Given the description of an element on the screen output the (x, y) to click on. 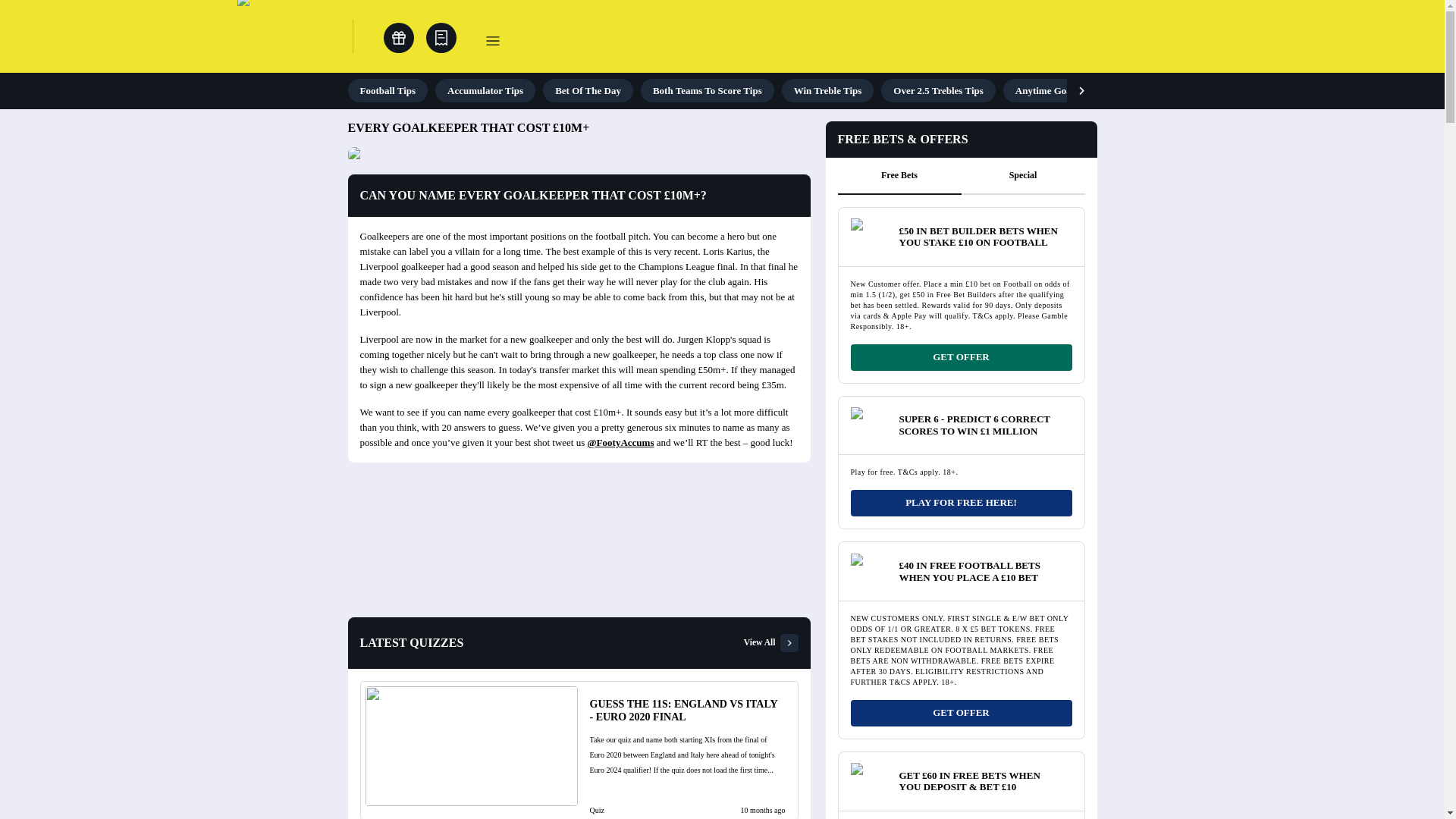
Win Treble Tips (828, 90)
View All (770, 642)
Both Teams To Score Tips (707, 90)
Accumulator Tips (485, 90)
Skybet Request A Bet (1197, 90)
Football Tips (387, 90)
Bet Of The Day (588, 90)
Over 2.5 Trebles Tips (937, 90)
Anytime Goalscorer Tips (1067, 90)
Open bet slip (441, 37)
